Given the description of an element on the screen output the (x, y) to click on. 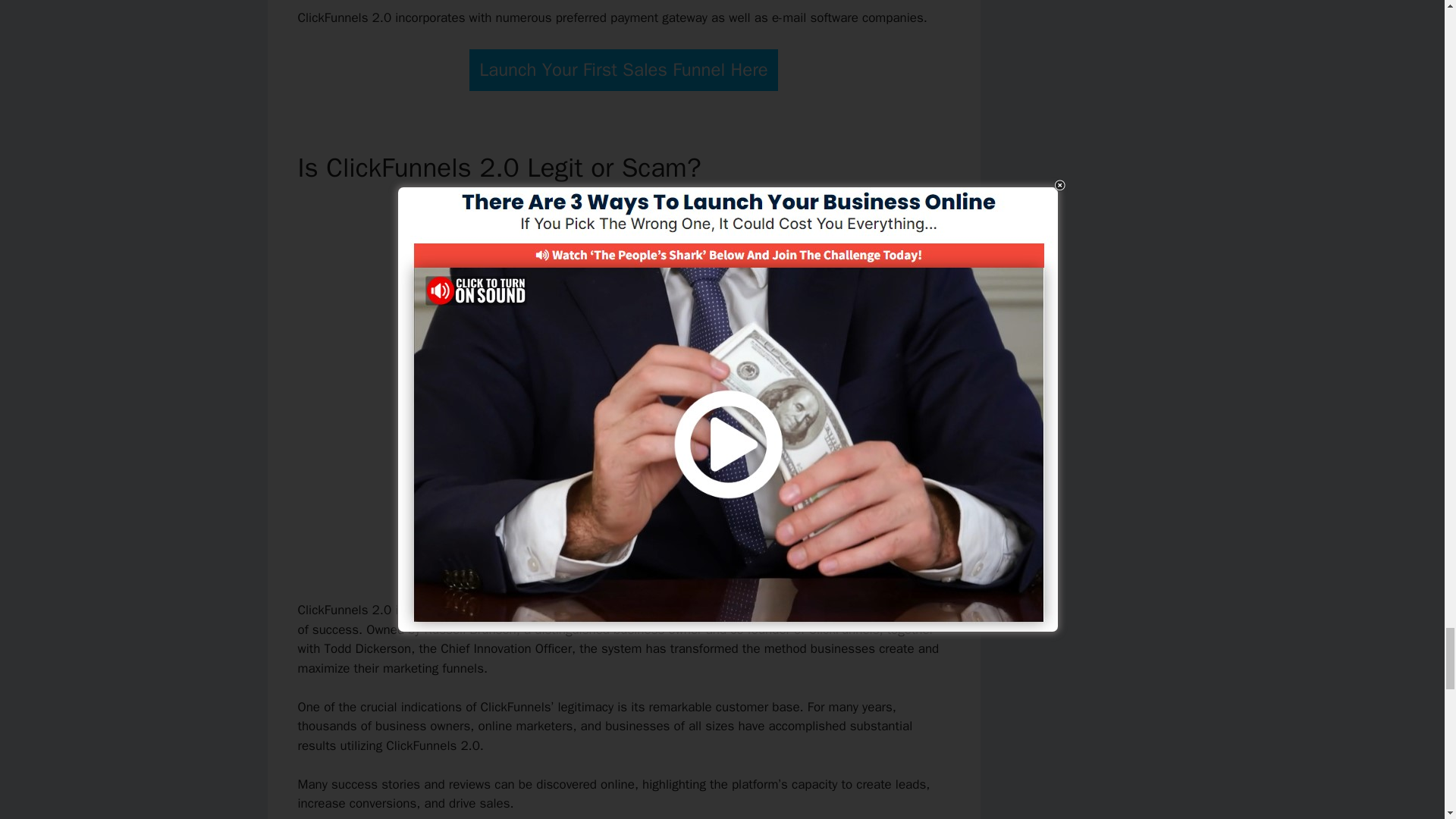
Launch Your First Sales Funnel Here (622, 69)
